Given the description of an element on the screen output the (x, y) to click on. 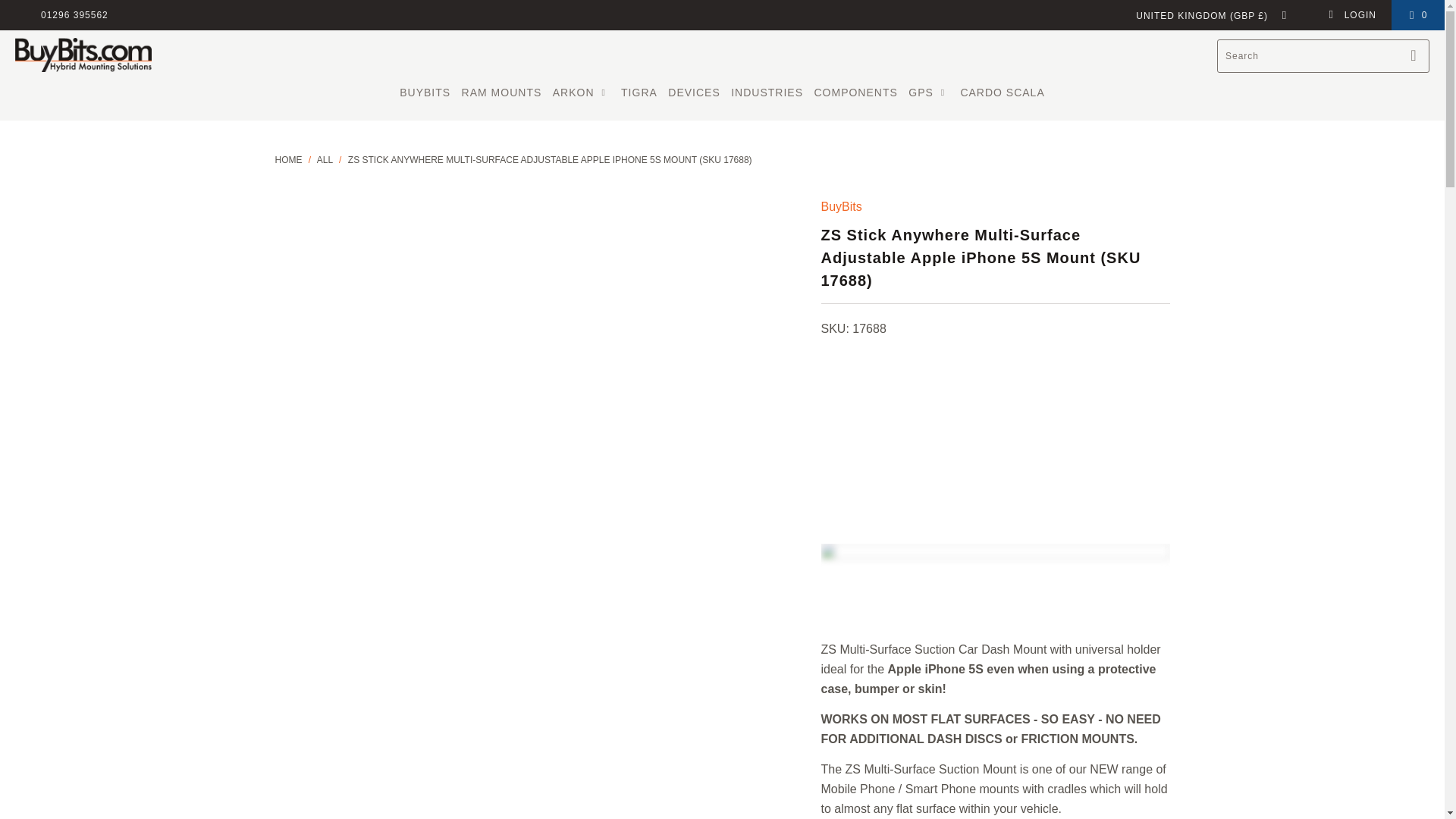
BuyBits Ltd (82, 55)
BuyBits (841, 205)
BuyBits Ltd (288, 159)
All (325, 159)
My Account  (1351, 15)
